Given the description of an element on the screen output the (x, y) to click on. 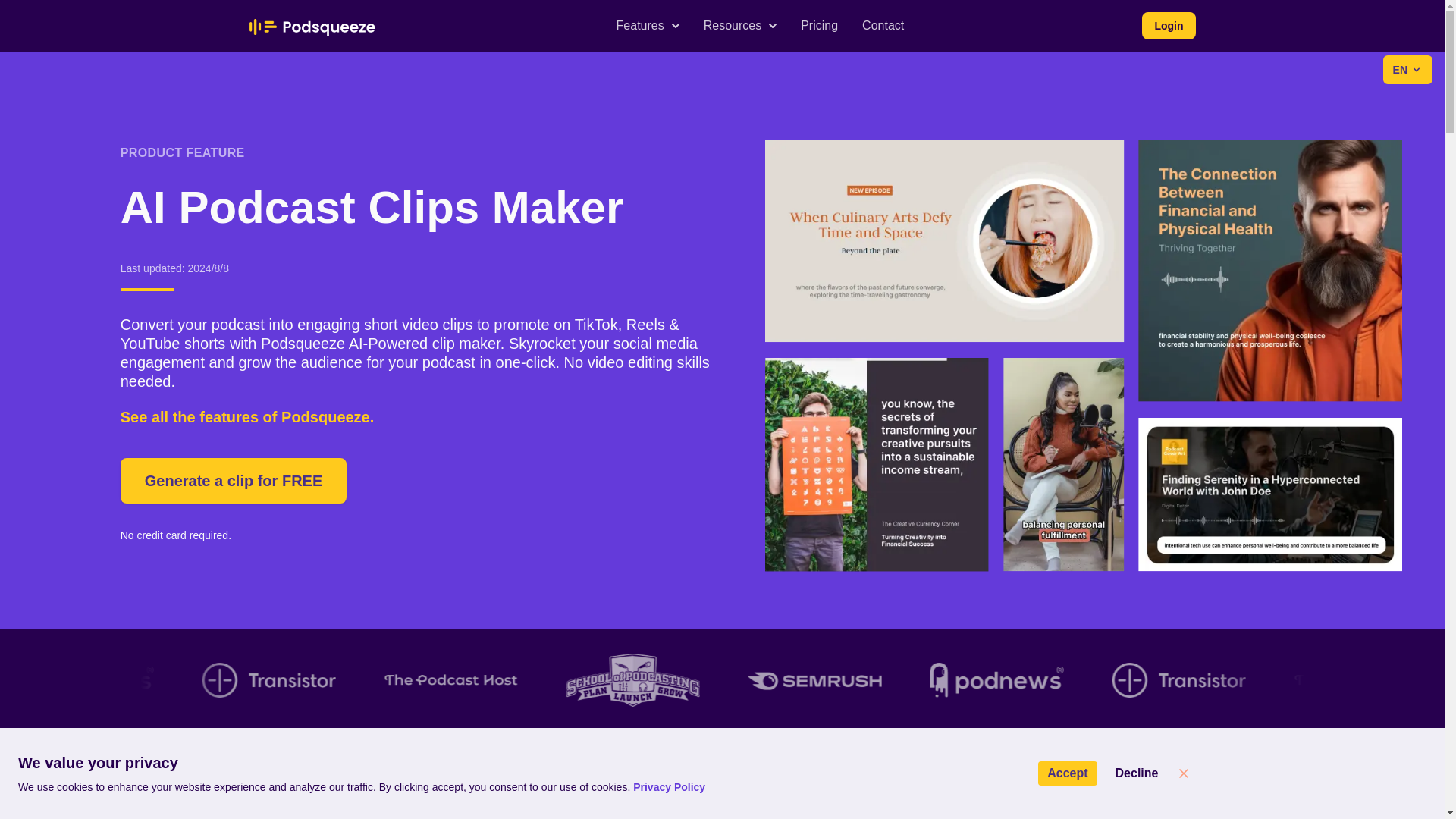
Pricing (819, 25)
Generate a clip for FREE (233, 480)
Resources (739, 25)
Decline (1136, 773)
See all the features of Podsqueeze. (247, 416)
Accept (1067, 773)
Login (1168, 25)
EN (1407, 69)
Contact (882, 25)
Features (647, 25)
